Given the description of an element on the screen output the (x, y) to click on. 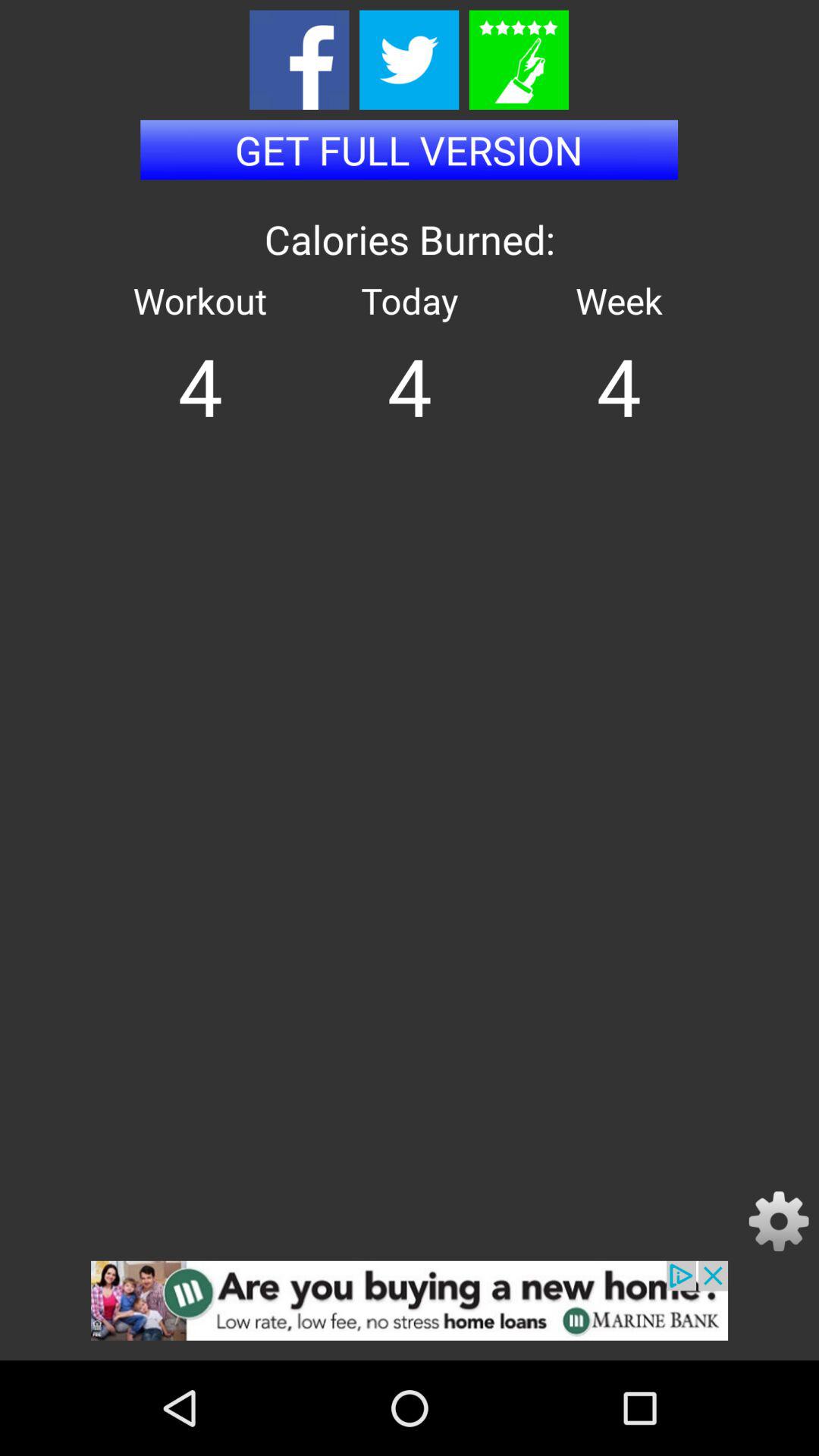
click to visit facebook page (299, 59)
